Given the description of an element on the screen output the (x, y) to click on. 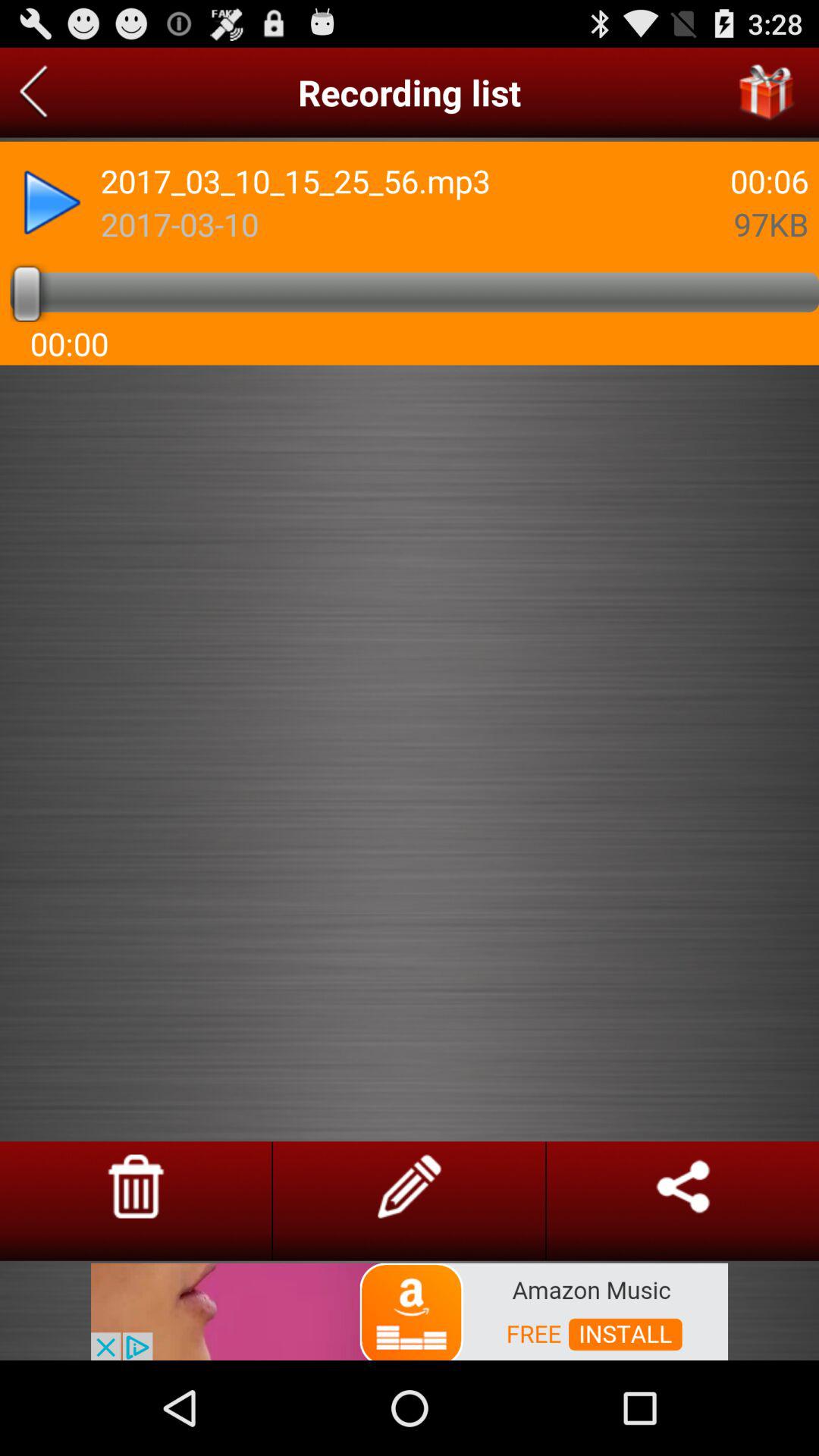
go to next (33, 92)
